Given the description of an element on the screen output the (x, y) to click on. 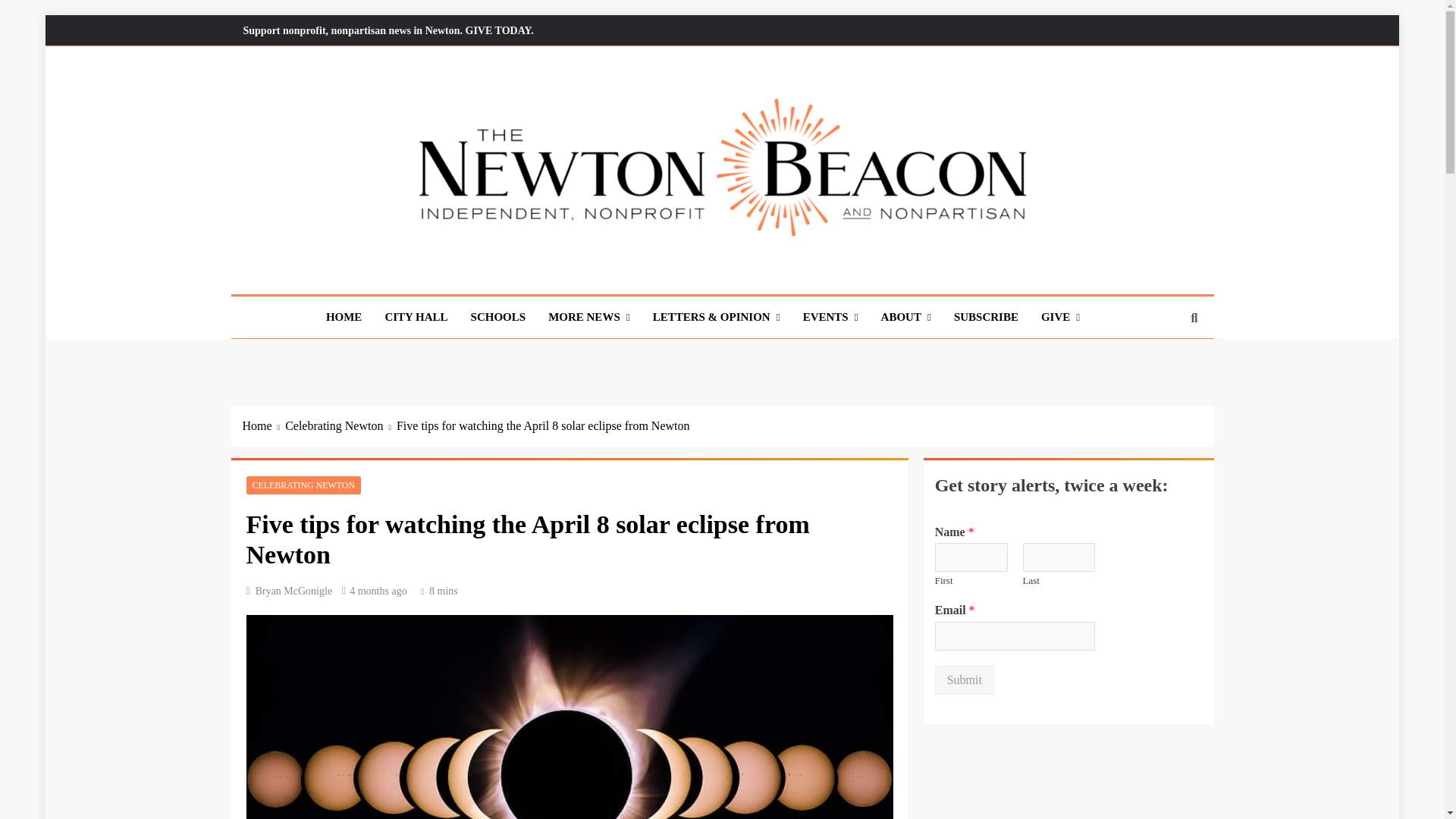
SUBSCRIBE (985, 316)
EVENTS (830, 317)
MORE NEWS (589, 317)
HOME (344, 316)
ABOUT (905, 317)
Newton Beacon (347, 269)
CITY HALL (415, 316)
Support nonprofit, nonpartisan news in Newton. GIVE TODAY. (387, 30)
SCHOOLS (498, 316)
GIVE (1059, 317)
